Given the description of an element on the screen output the (x, y) to click on. 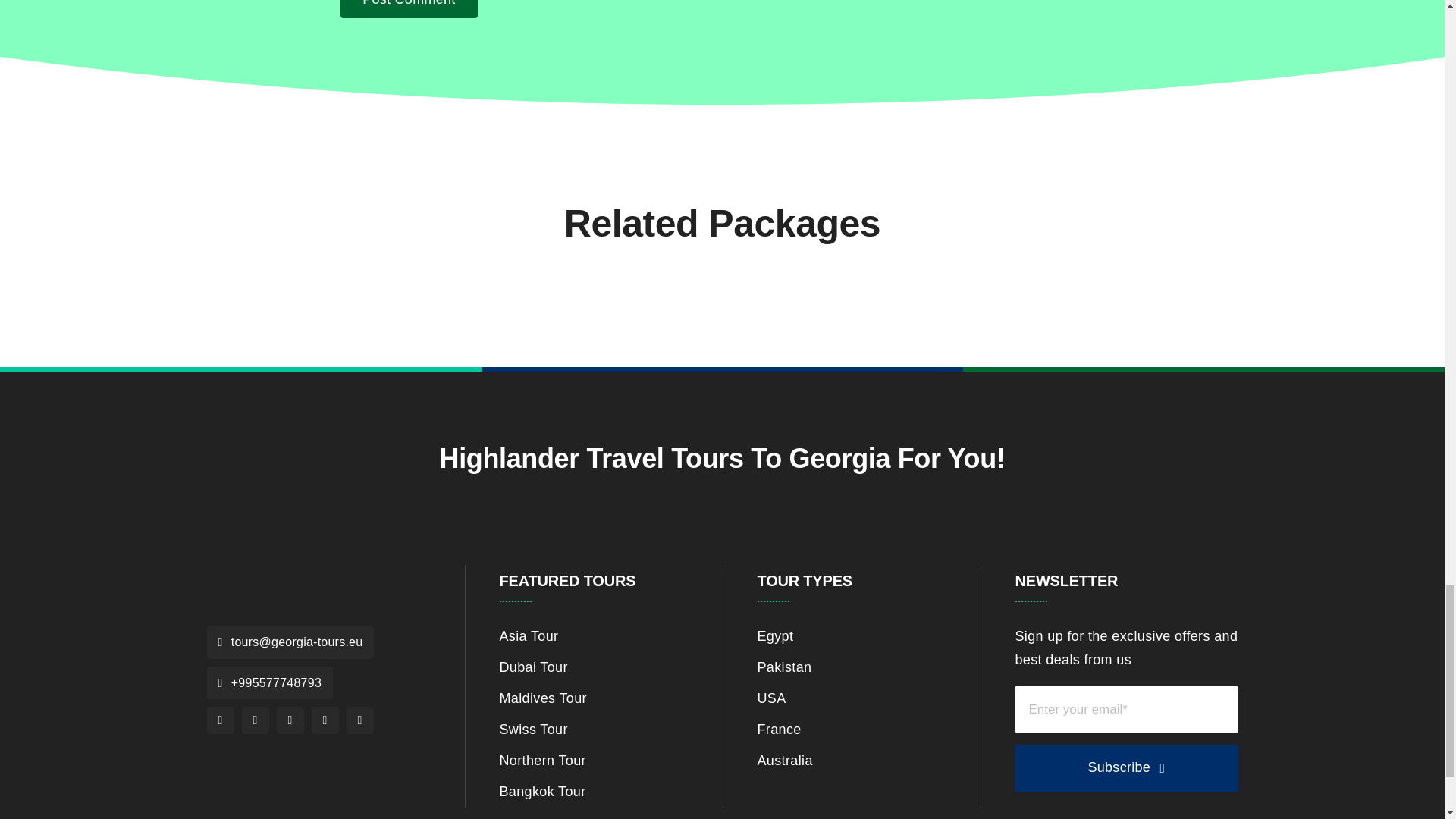
Subscribe (1125, 742)
Post Comment (408, 9)
Post Comment (408, 9)
